Given the description of an element on the screen output the (x, y) to click on. 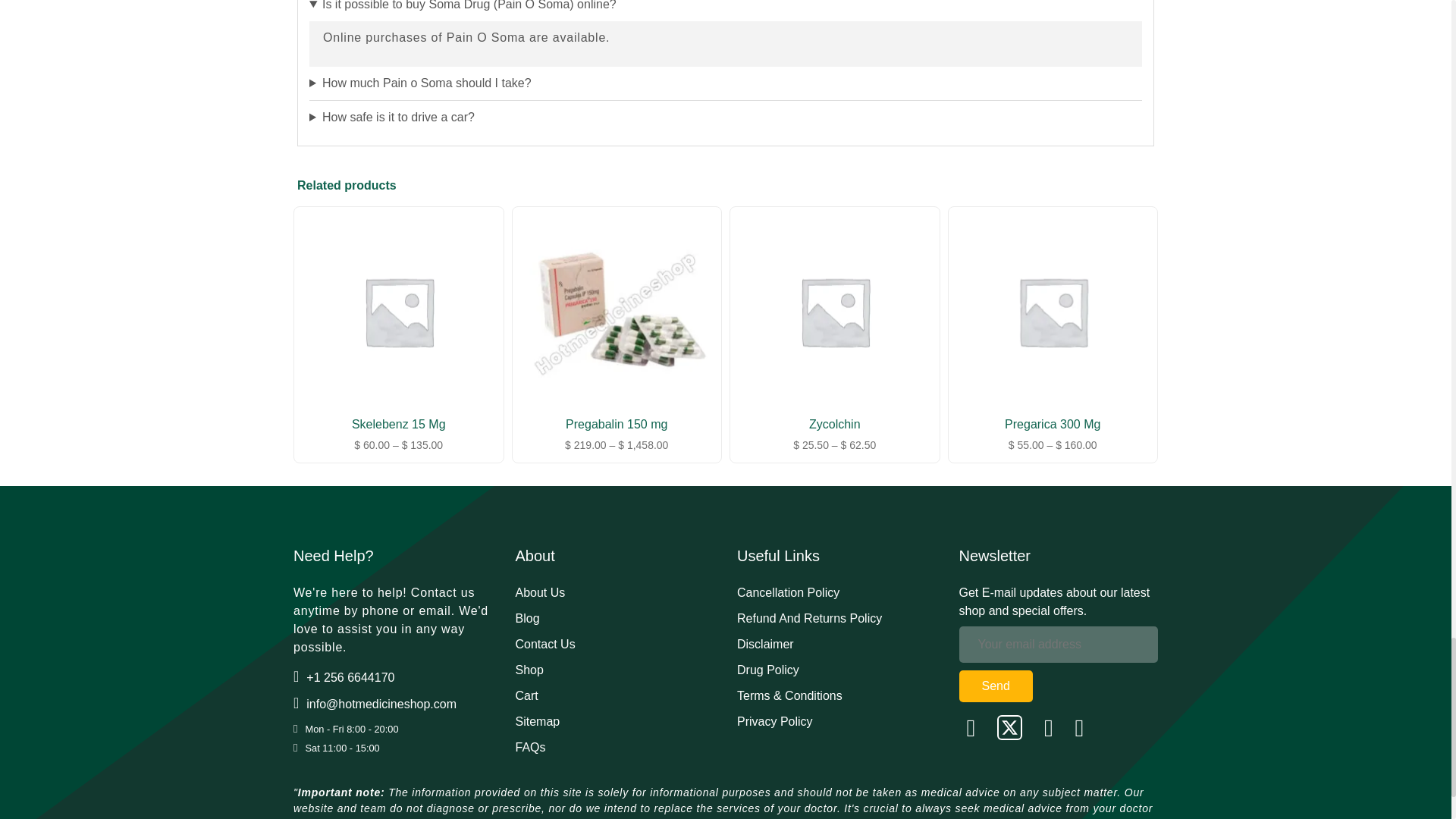
Send (995, 685)
